Given the description of an element on the screen output the (x, y) to click on. 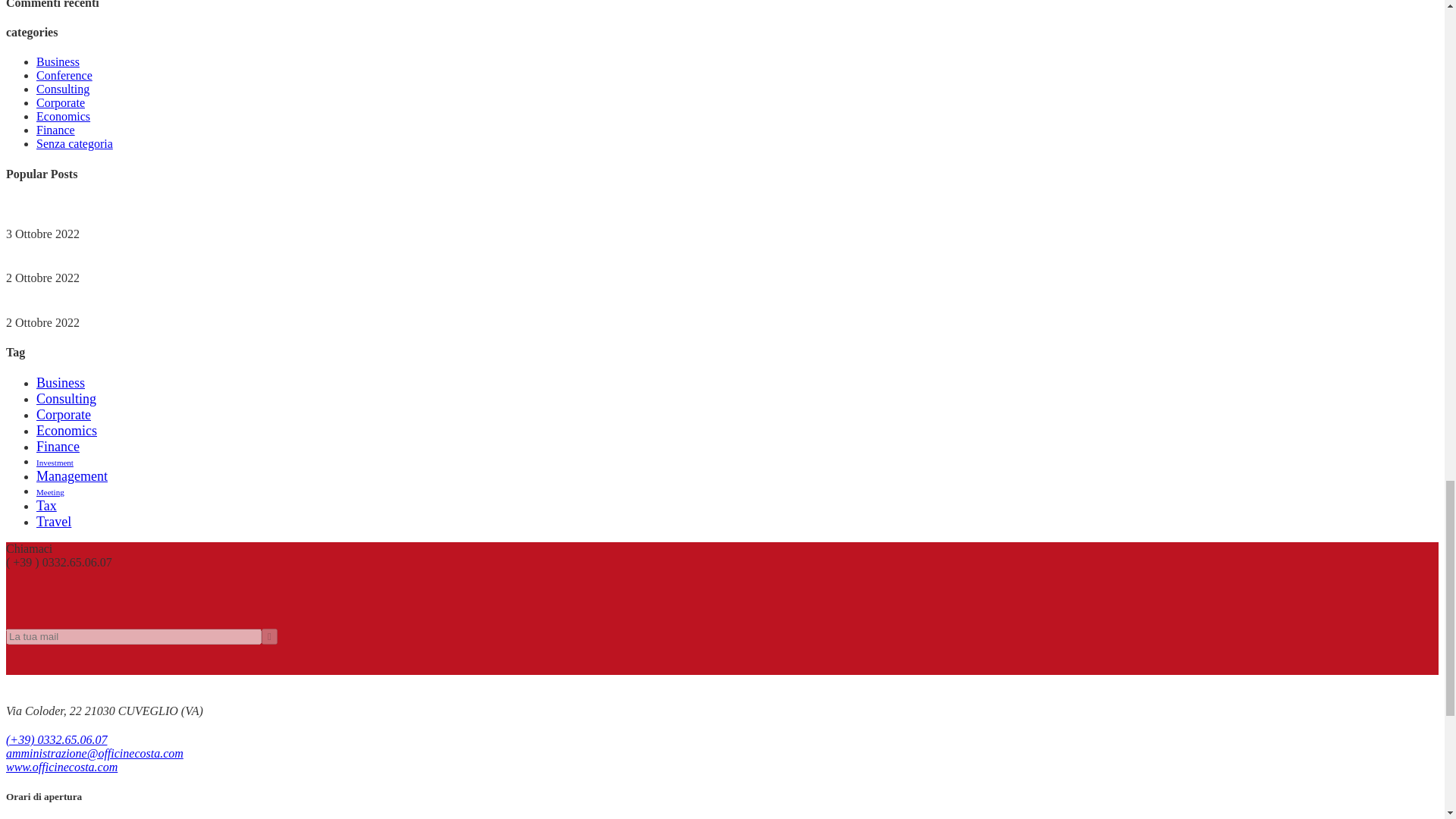
Business (58, 61)
Senza categoria (74, 143)
Economics (66, 430)
Business (60, 382)
Corporate (63, 414)
Corporate (60, 102)
Management (71, 476)
Consulting (66, 398)
Investment (55, 461)
Economics (63, 115)
Conference (64, 74)
Finance (58, 446)
Consulting (62, 88)
Finance (55, 129)
